Given the description of an element on the screen output the (x, y) to click on. 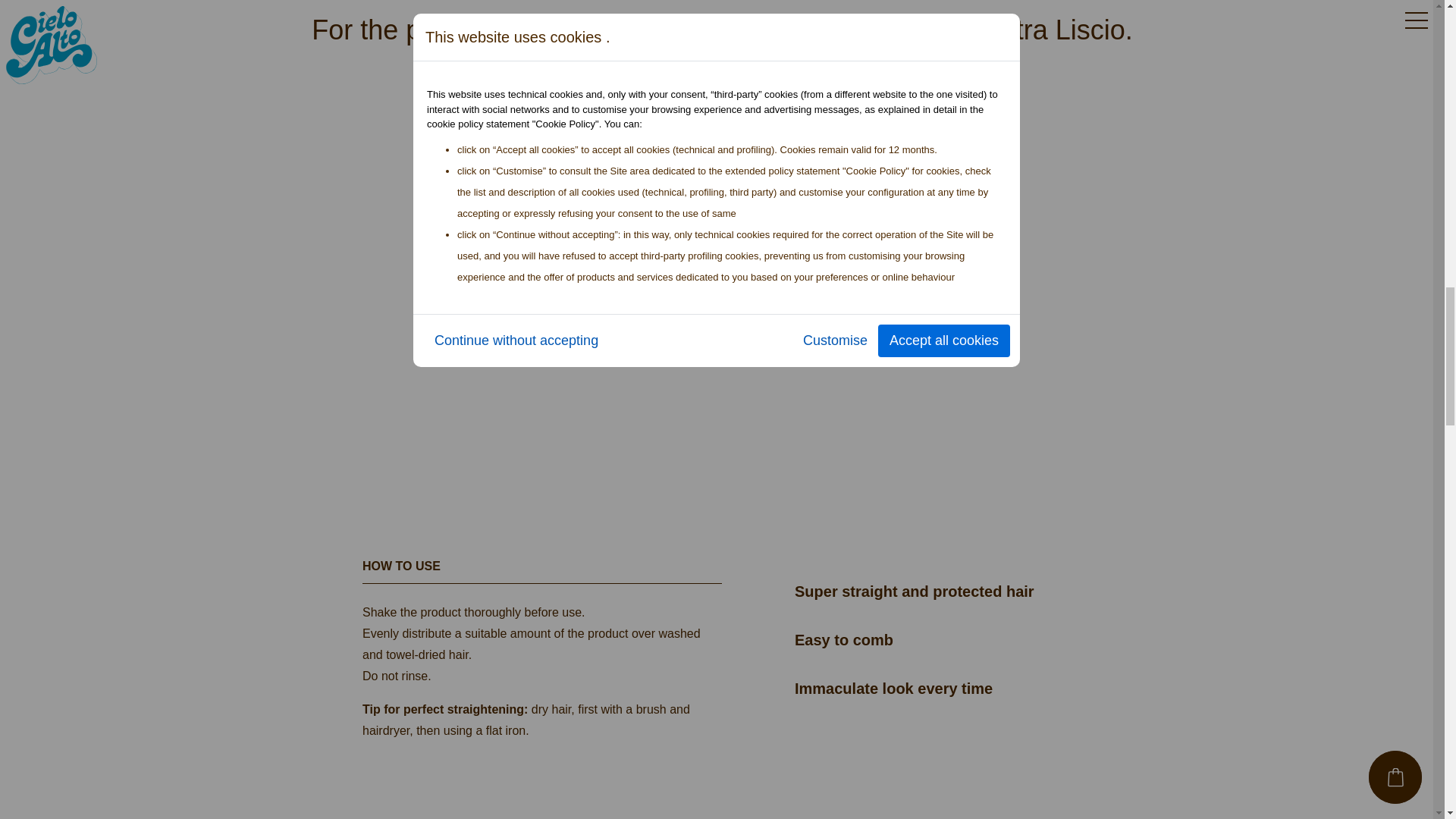
DISCOVER THE LINE (721, 106)
